Given the description of an element on the screen output the (x, y) to click on. 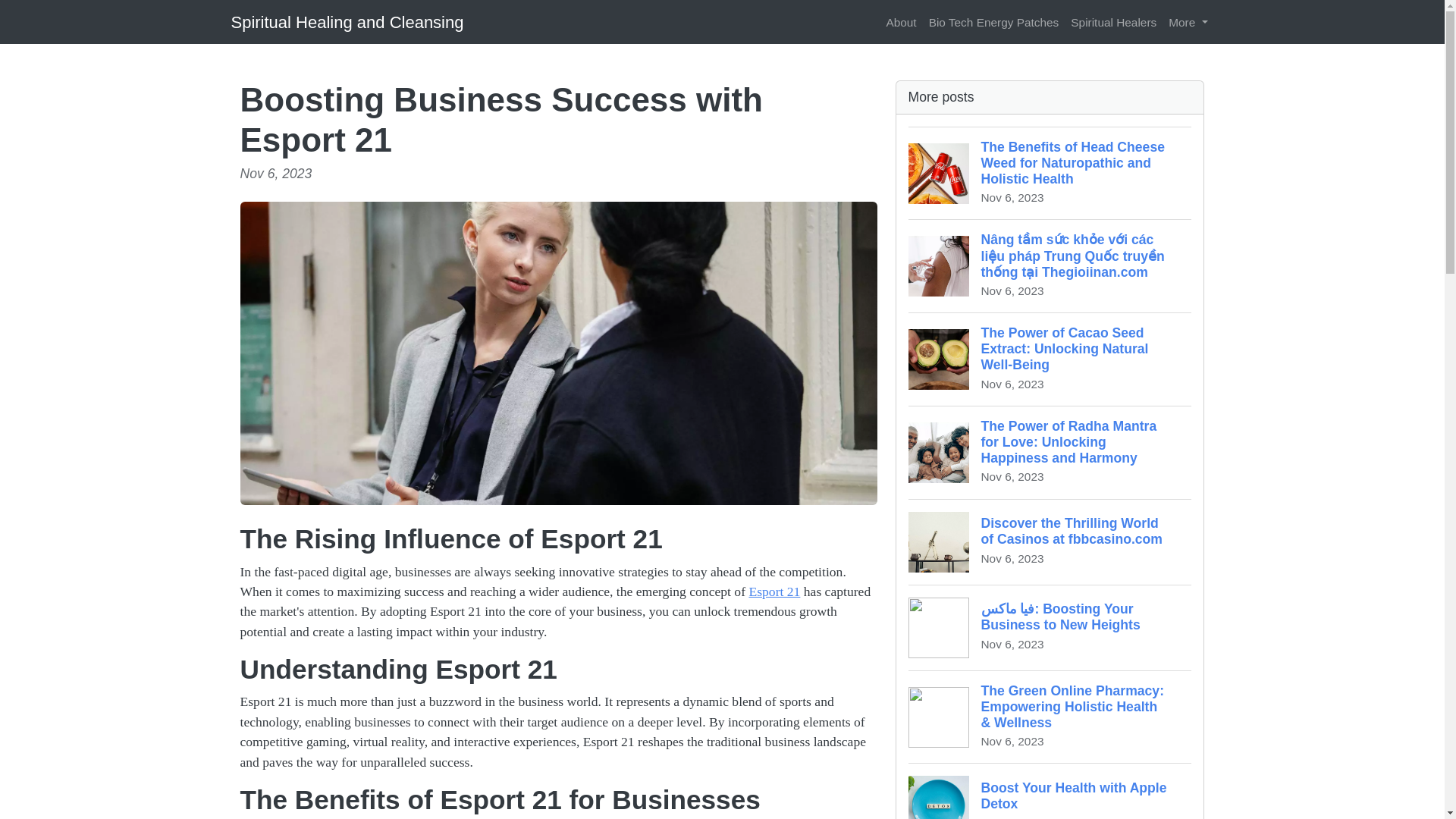
Bio Tech Energy Patches (994, 21)
Spiritual Healers (1112, 21)
More (1186, 21)
About (900, 21)
Spiritual Healing and Cleansing (346, 21)
Esport 21 (1050, 790)
